Given the description of an element on the screen output the (x, y) to click on. 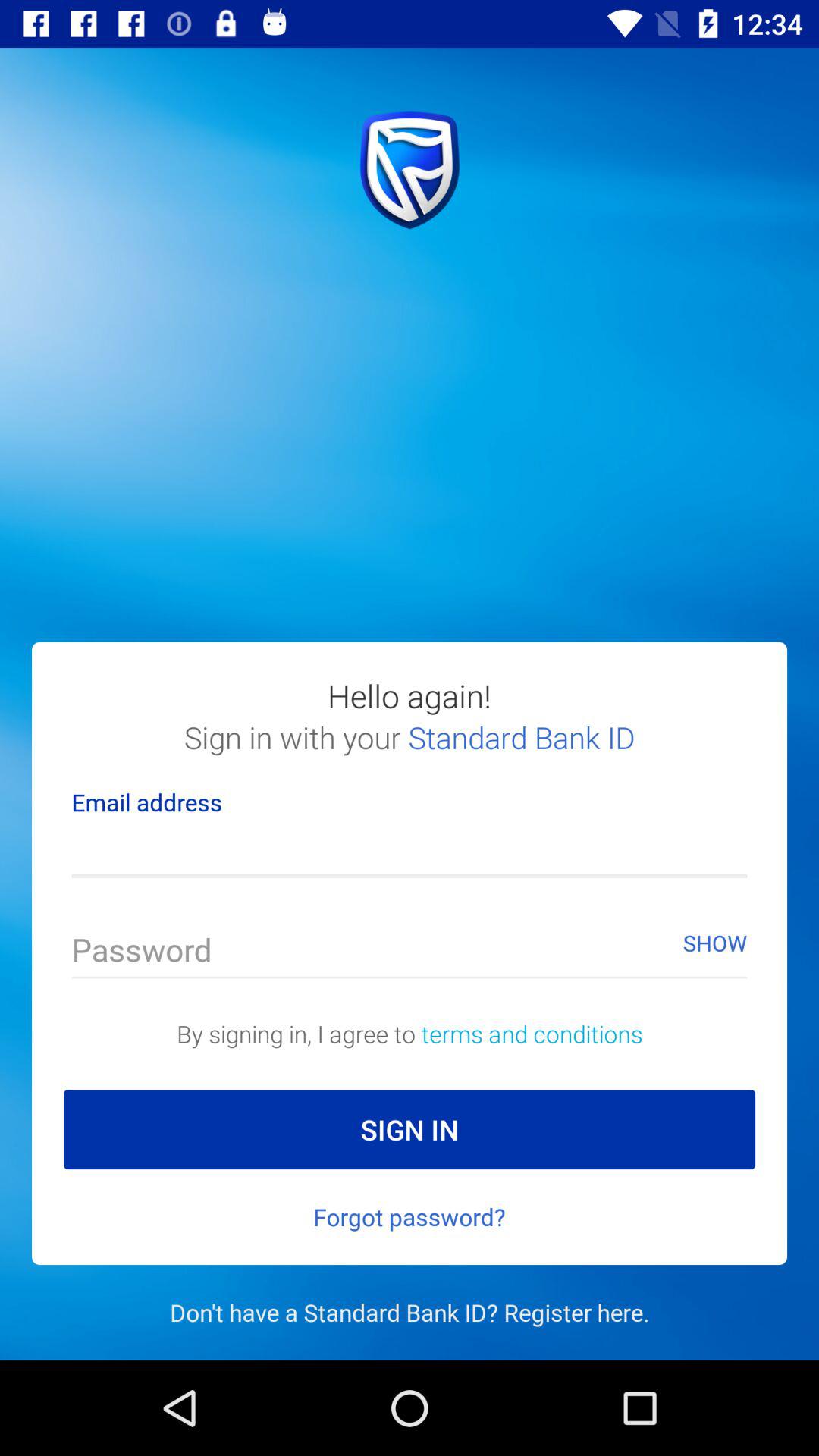
insert email address (409, 851)
